Given the description of an element on the screen output the (x, y) to click on. 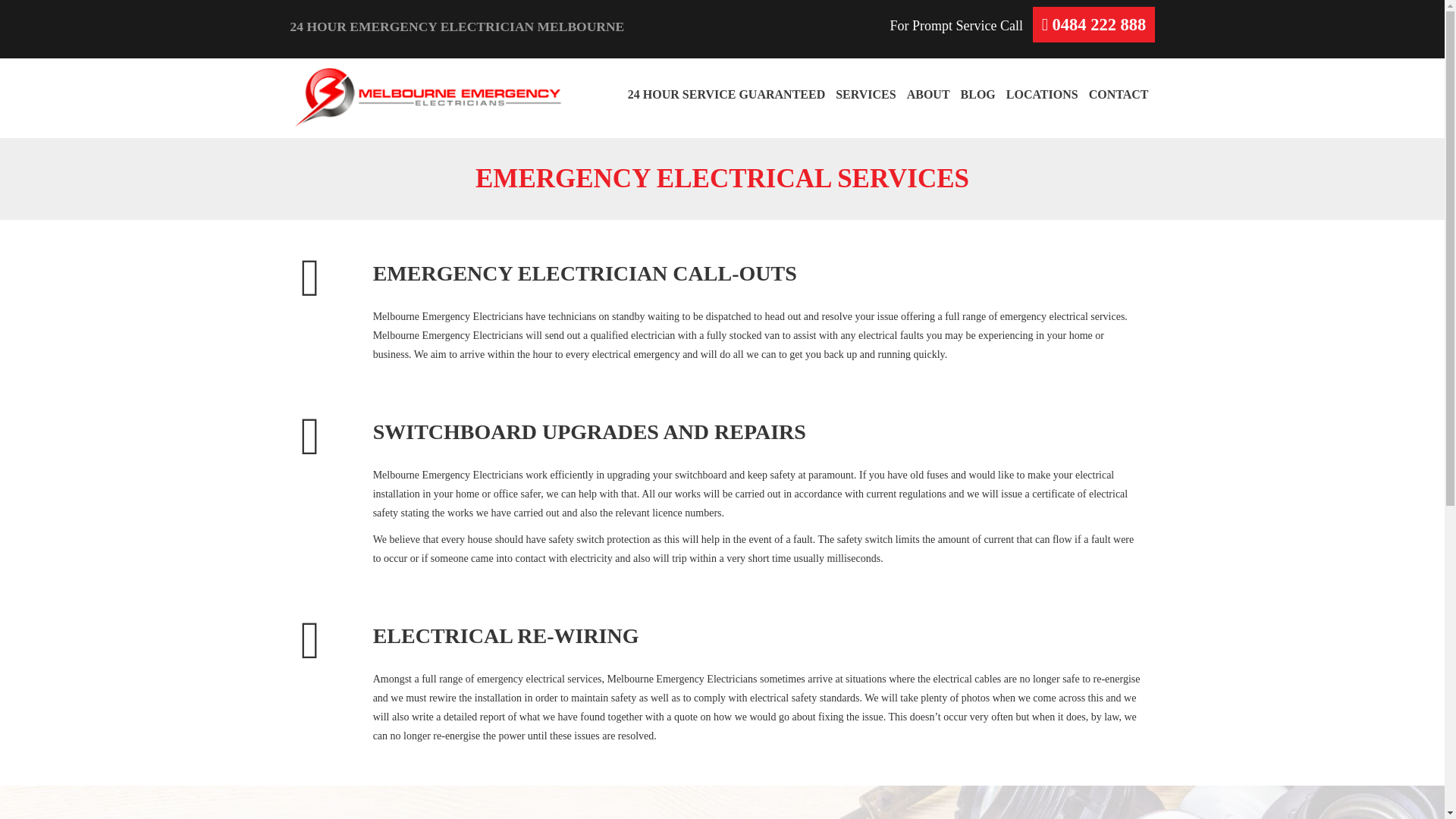
Emergency Electrical Services (865, 94)
LOCATIONS (1042, 94)
About (928, 94)
24 Hour Service Guaranteed (726, 94)
Blog (978, 94)
Locations (1042, 94)
CONTACT (1118, 94)
Contact (1118, 94)
BLOG (978, 94)
24 HOUR EMERGENCY ELECTRICIAN MELBOURNE (499, 27)
SERVICES (865, 94)
24 HOUR SERVICE GUARANTEED (726, 94)
ABOUT (928, 94)
0484 222 888 (1099, 24)
